Given the description of an element on the screen output the (x, y) to click on. 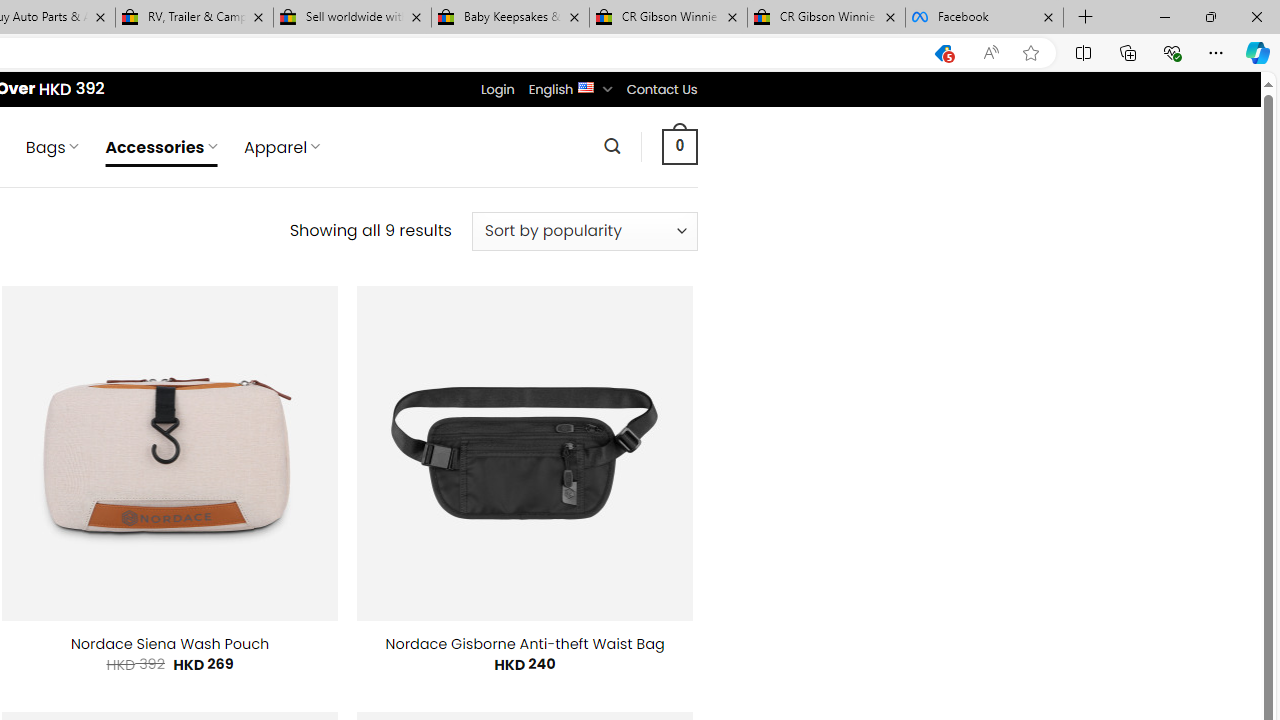
Nordace Siena Wash Pouch (170, 643)
This site has coupons! Shopping in Microsoft Edge, 5 (943, 53)
